Given the description of an element on the screen output the (x, y) to click on. 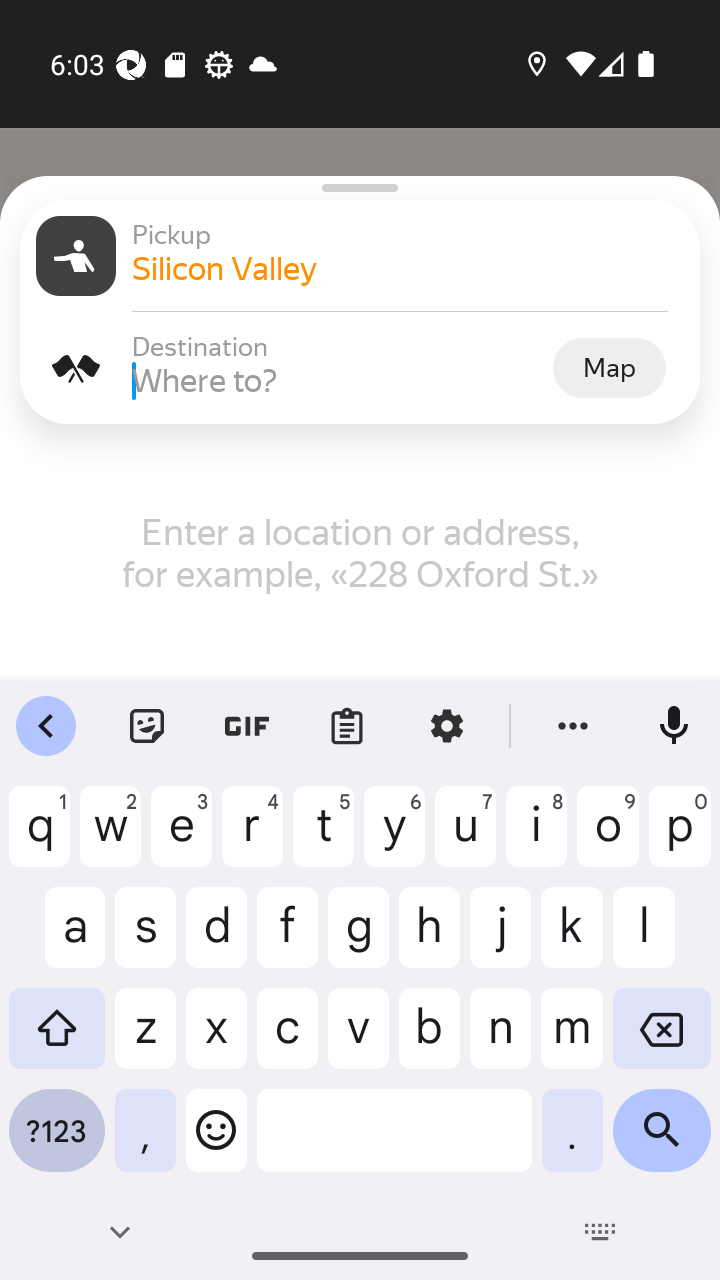
Pickup Pickup Silicon Valley (359, 255)
Silicon Valley (407, 268)
Destination Destination Where to? Map (359, 367)
Map (609, 367)
Where to? (340, 380)
